Given the description of an element on the screen output the (x, y) to click on. 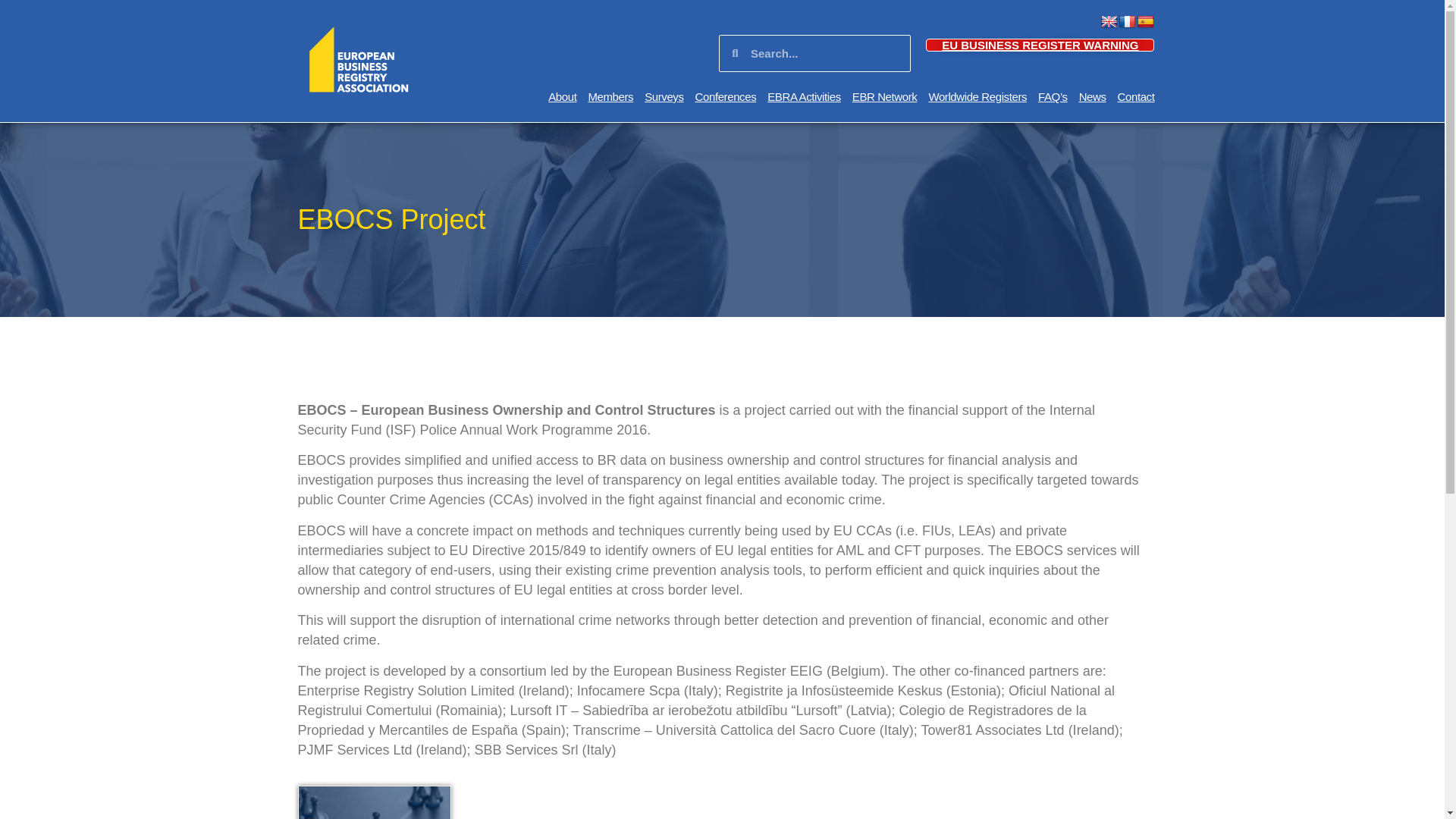
Conferences (726, 96)
European Business Ownership and Control Structures Phase 3 (373, 802)
EU BUSINESS REGISTER WARNING (1040, 44)
English (1109, 22)
EBR Network (884, 96)
French (1127, 22)
Spanish (1145, 22)
EBRA Activities (804, 96)
Members (610, 96)
Surveys (663, 96)
